Given the description of an element on the screen output the (x, y) to click on. 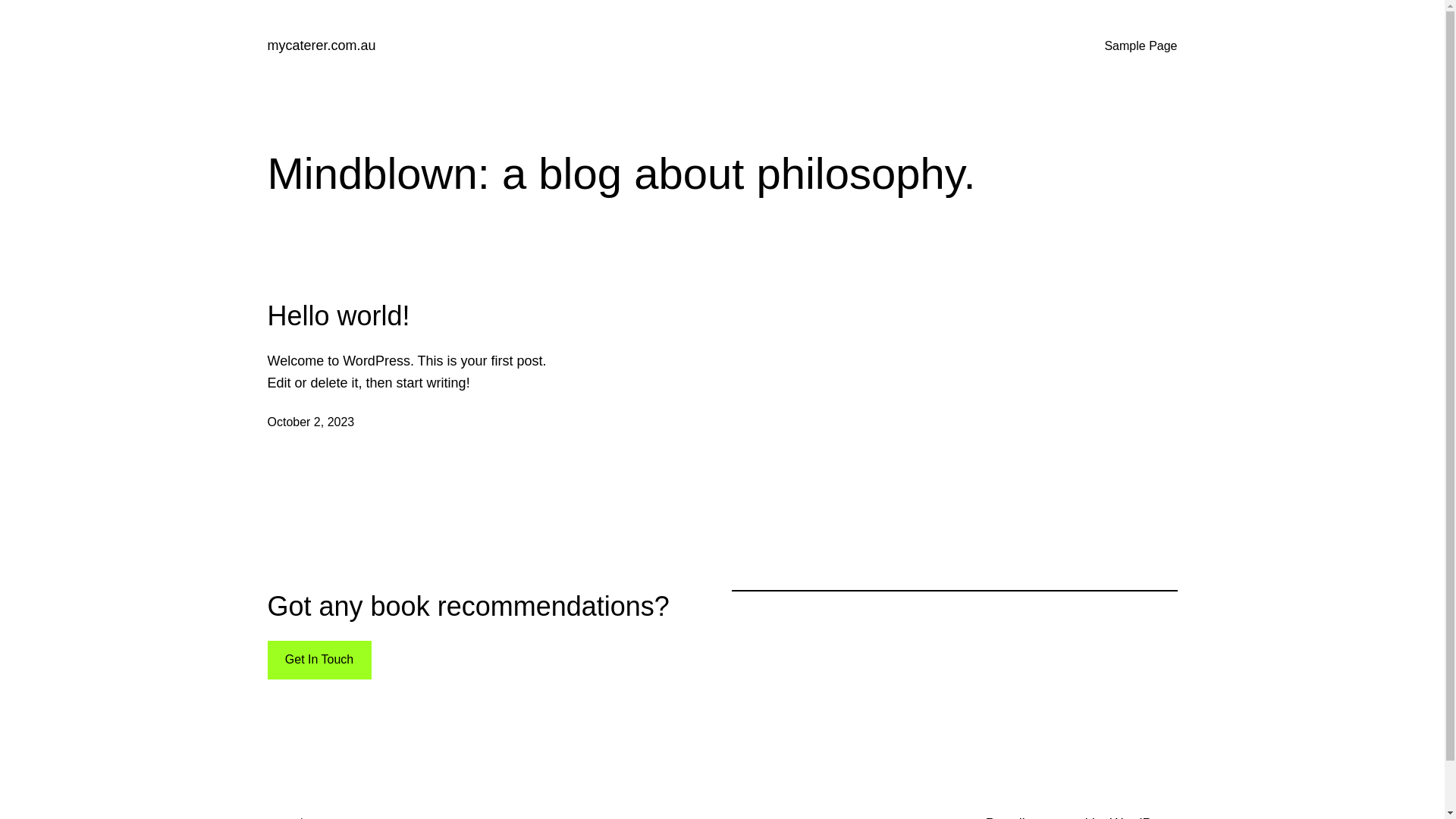
October 2, 2023 Element type: text (310, 421)
Get In Touch Element type: text (318, 659)
Hello world! Element type: text (337, 315)
mycaterer.com.au Element type: text (320, 45)
Sample Page Element type: text (1140, 46)
